Given the description of an element on the screen output the (x, y) to click on. 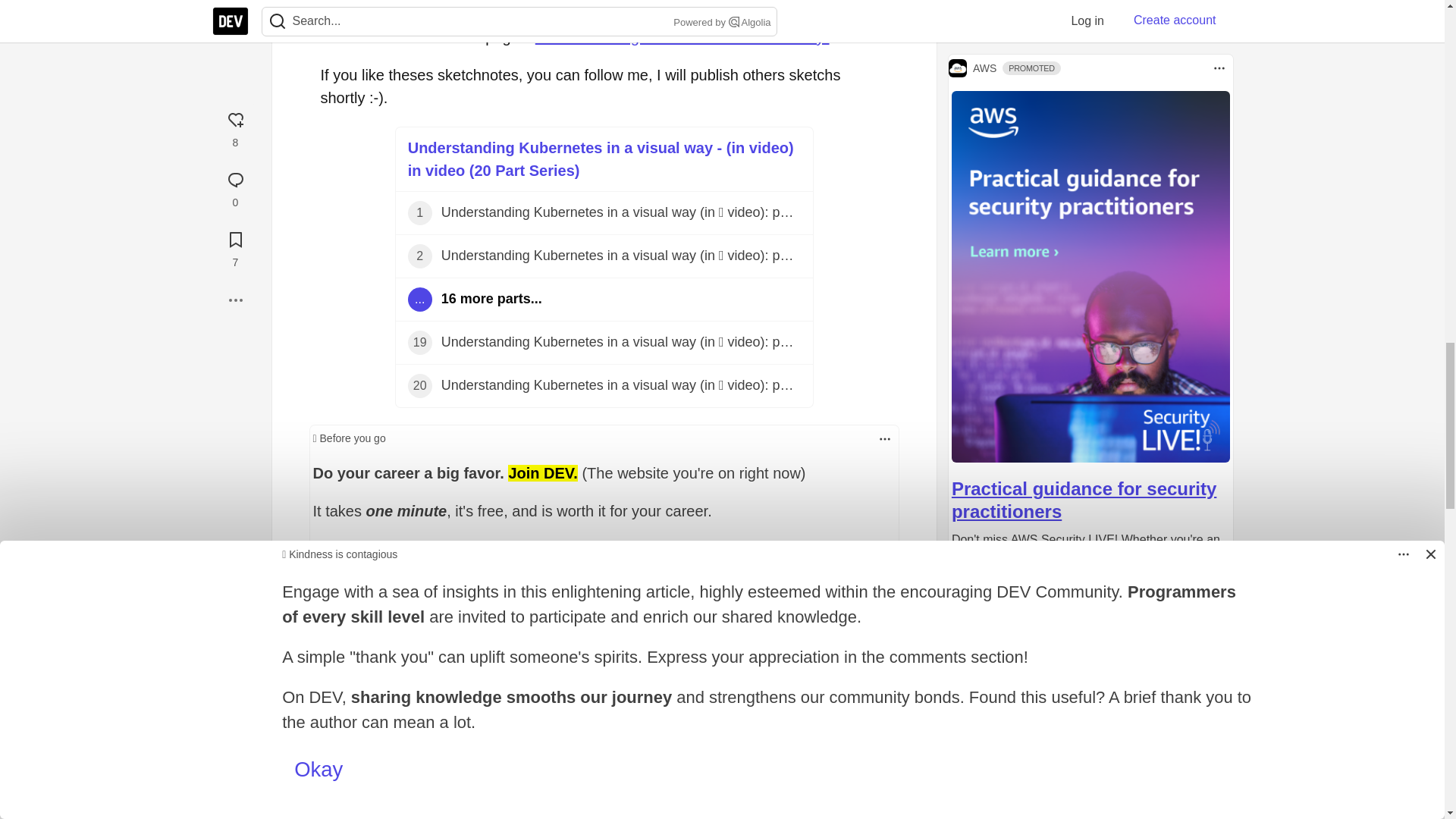
Dropdown menu (884, 438)
